Given the description of an element on the screen output the (x, y) to click on. 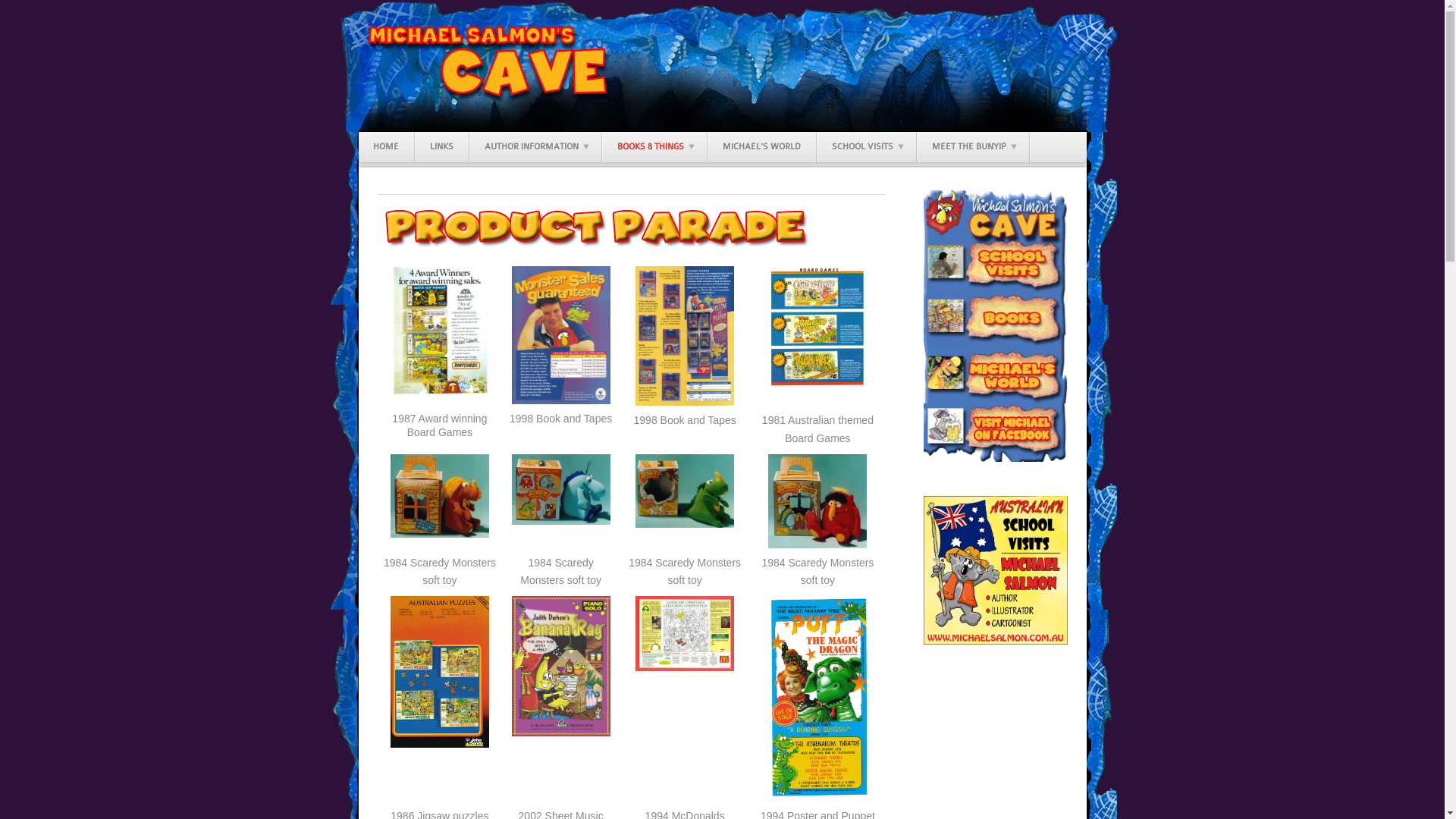
BOOKS & THINGS Element type: text (654, 146)
HOME Element type: text (385, 146)
MICHAEL'S WORLD Element type: text (760, 146)
AUTHOR INFORMATION Element type: text (534, 146)
LINKS Element type: text (440, 146)
SCHOOL VISITS Element type: text (865, 146)
MEET THE BUNYIP Element type: text (972, 146)
